Given the description of an element on the screen output the (x, y) to click on. 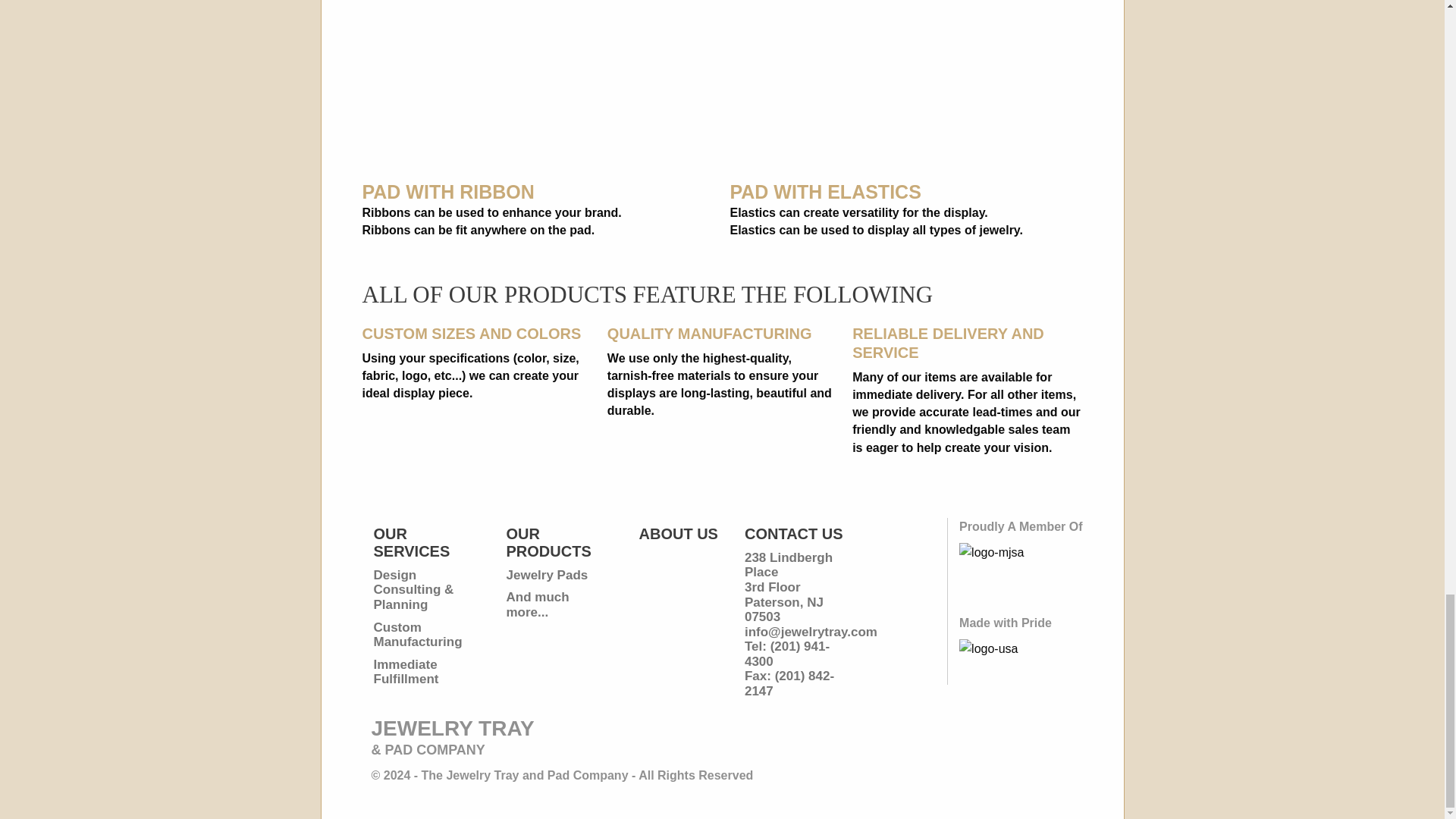
OUR PRODUCTS (548, 542)
CONTACT US (793, 533)
Jewelry Pads (547, 575)
ABOUT US (678, 533)
And much more... (537, 604)
OUR SERVICES (410, 542)
